Given the description of an element on the screen output the (x, y) to click on. 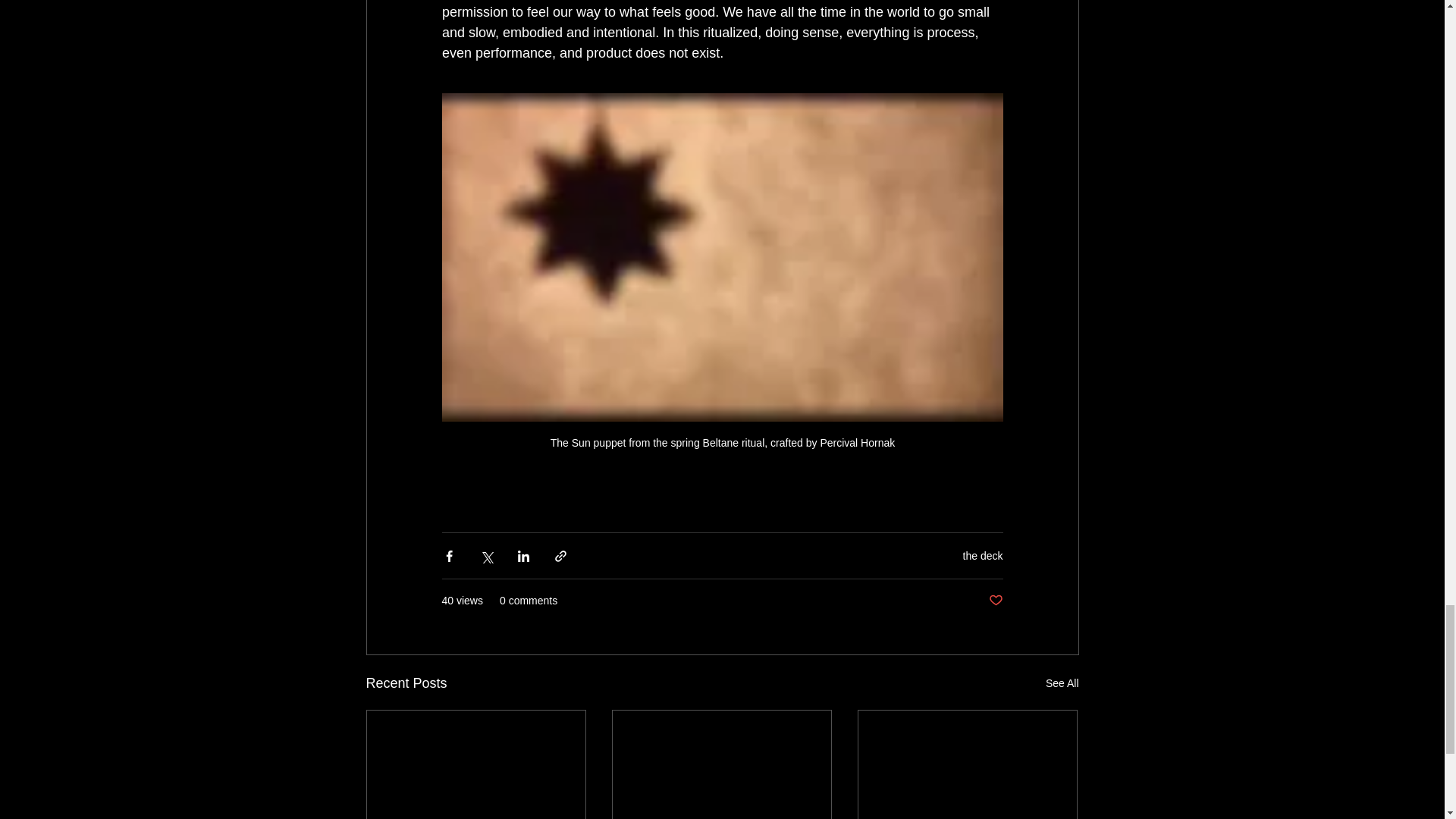
Post not marked as liked (995, 600)
See All (1061, 683)
the deck (982, 555)
